Given the description of an element on the screen output the (x, y) to click on. 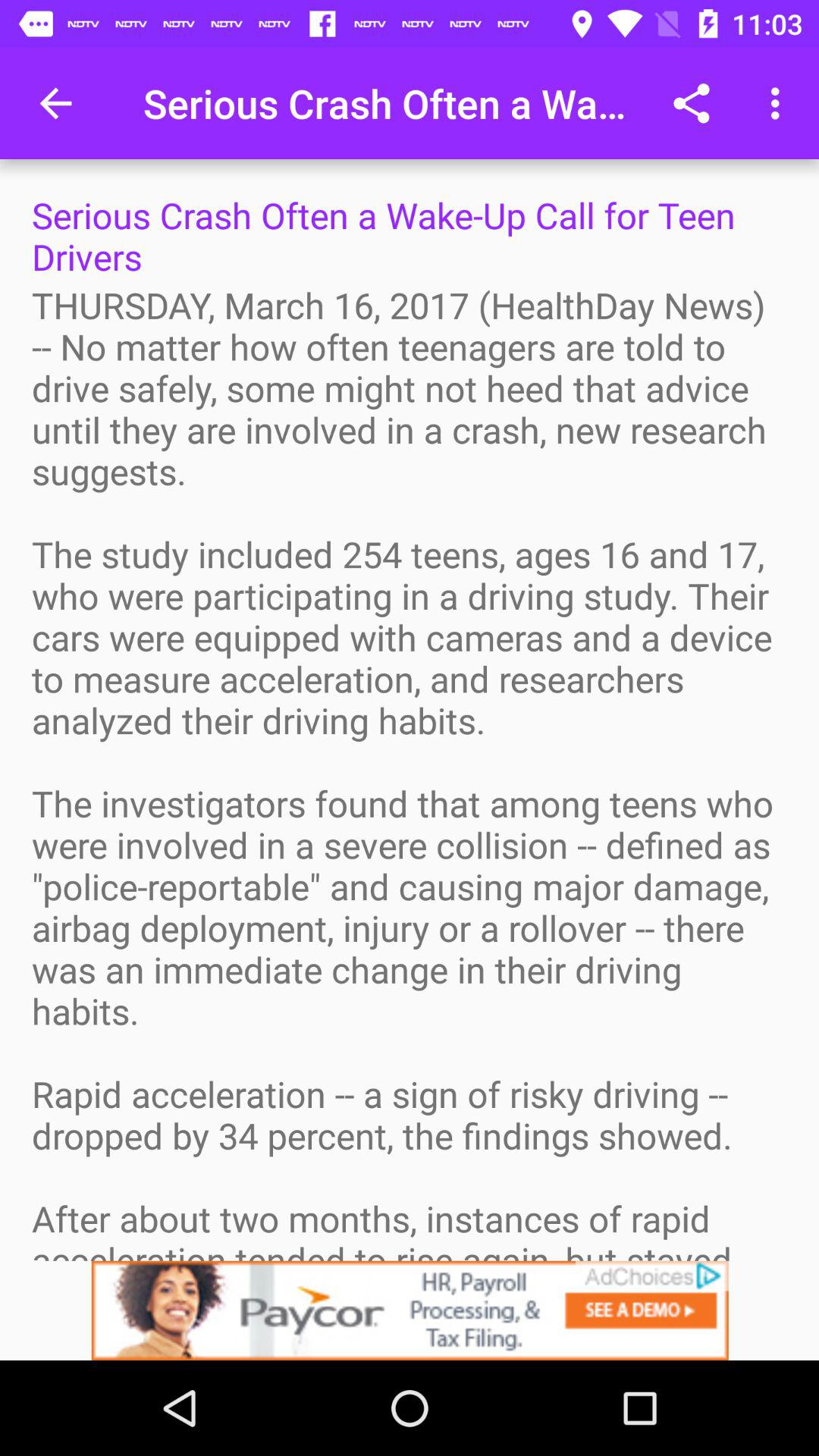
click to view advertisements (409, 1310)
